Given the description of an element on the screen output the (x, y) to click on. 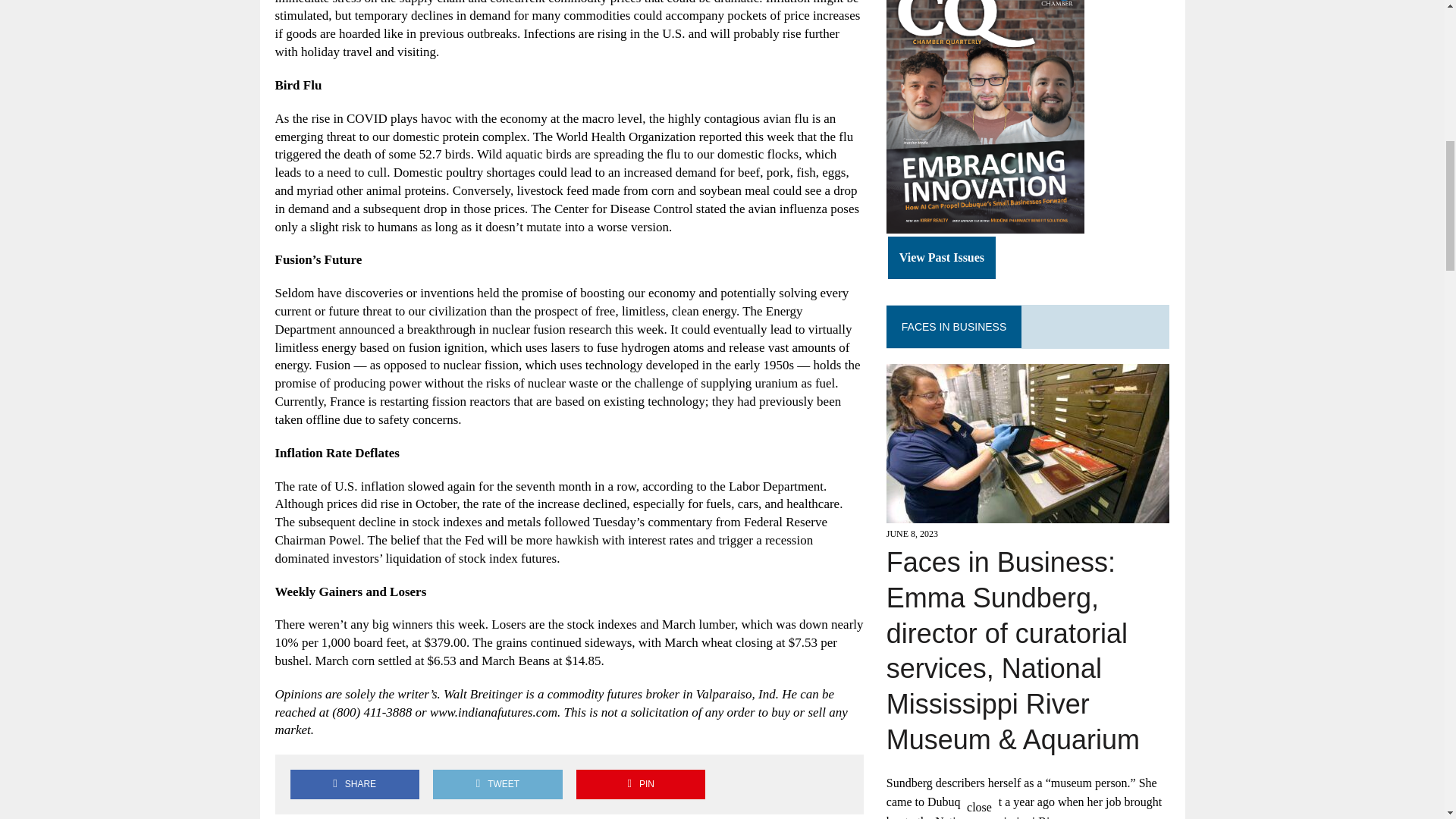
Share on Facebook (354, 784)
Pin This Post (640, 784)
View Past Issues (941, 257)
Tweet This Post (497, 784)
TWEET (497, 784)
SHARE (354, 784)
FACES IN BUSINESS (953, 326)
PIN (640, 784)
